Given the description of an element on the screen output the (x, y) to click on. 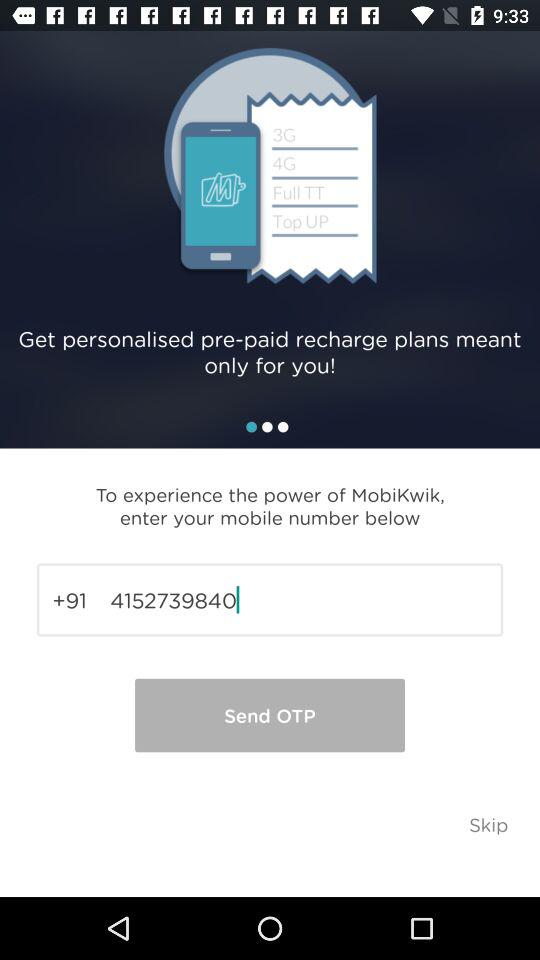
select the icon below the 4152739840 item (488, 823)
